Given the description of an element on the screen output the (x, y) to click on. 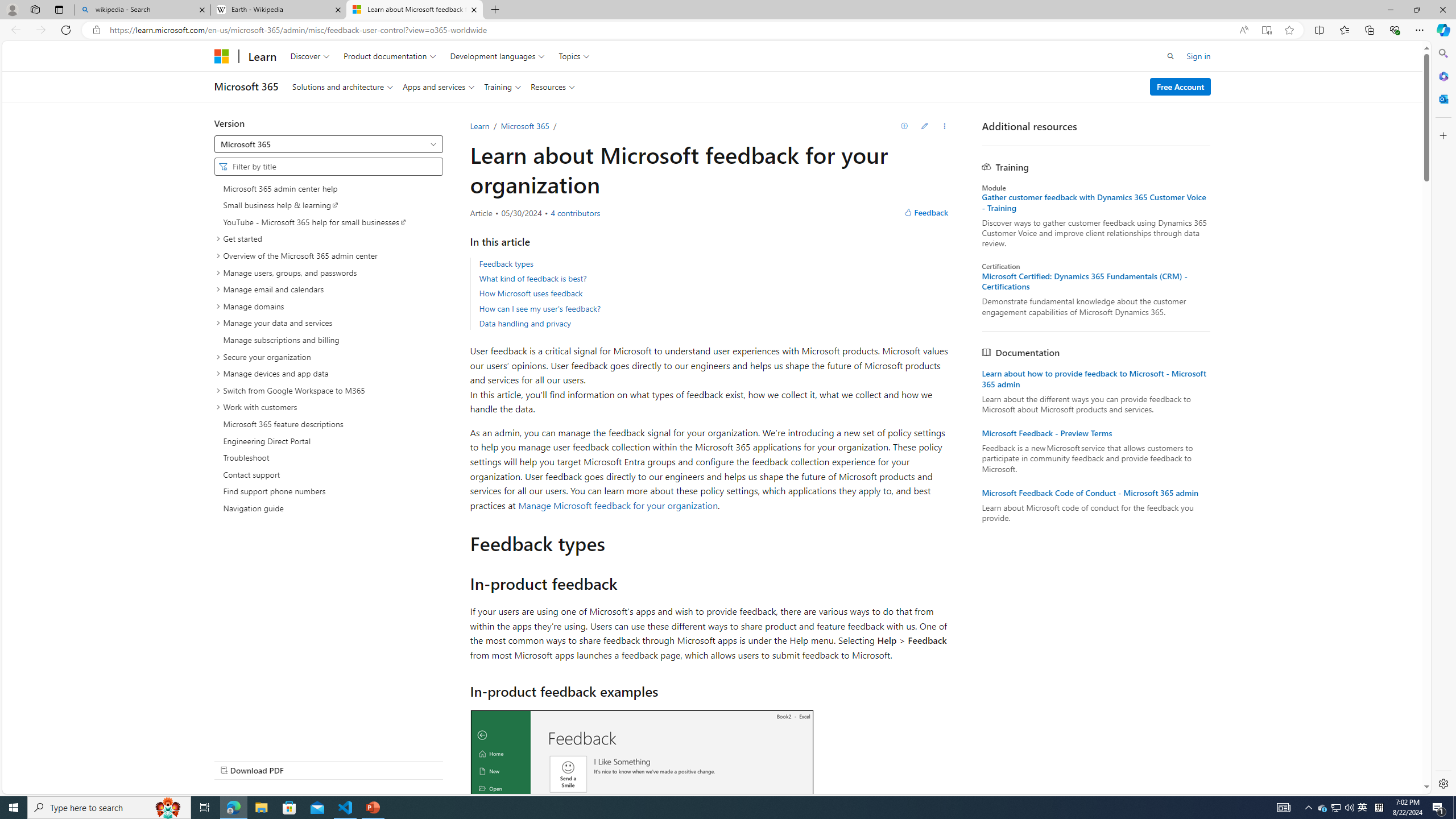
Apps and services (438, 86)
Manage Microsoft feedback for your organization (617, 504)
How Microsoft uses feedback (530, 292)
Development languages (497, 55)
Refresh (66, 29)
Read aloud this page (Ctrl+Shift+U) (1243, 29)
Settings (1442, 783)
App bar (728, 29)
View all contributors (574, 212)
Free Account (1180, 85)
Browser essentials (1394, 29)
Learn (479, 125)
Forward (40, 29)
